Given the description of an element on the screen output the (x, y) to click on. 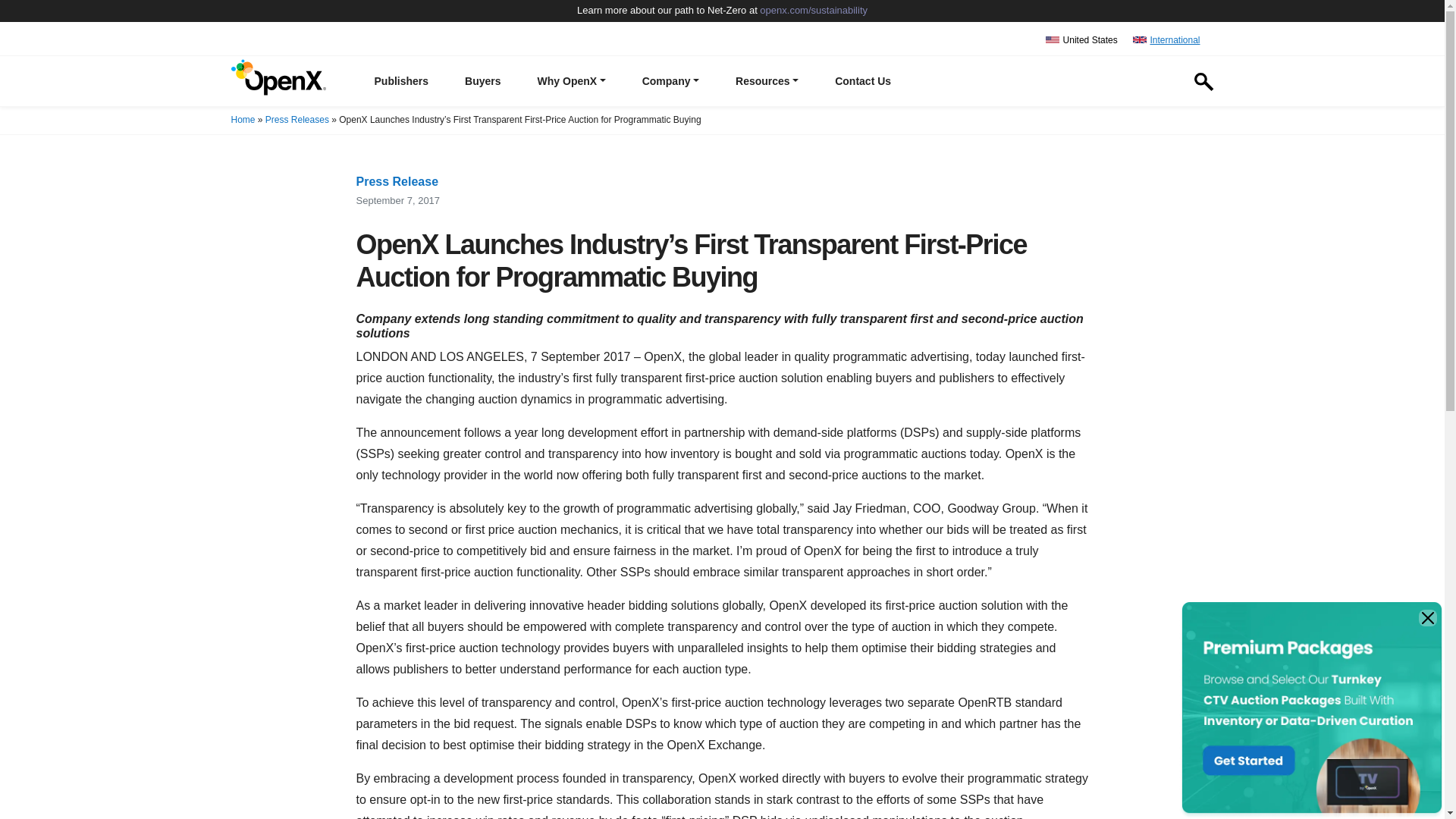
Company (670, 81)
Buyers (482, 81)
Contact Us (862, 81)
Search (1194, 135)
Why OpenX (571, 81)
Resources (766, 81)
Press Release (397, 181)
International (1166, 40)
Publishers (401, 81)
Home (242, 119)
United States (1081, 40)
Press Releases (296, 119)
